Given the description of an element on the screen output the (x, y) to click on. 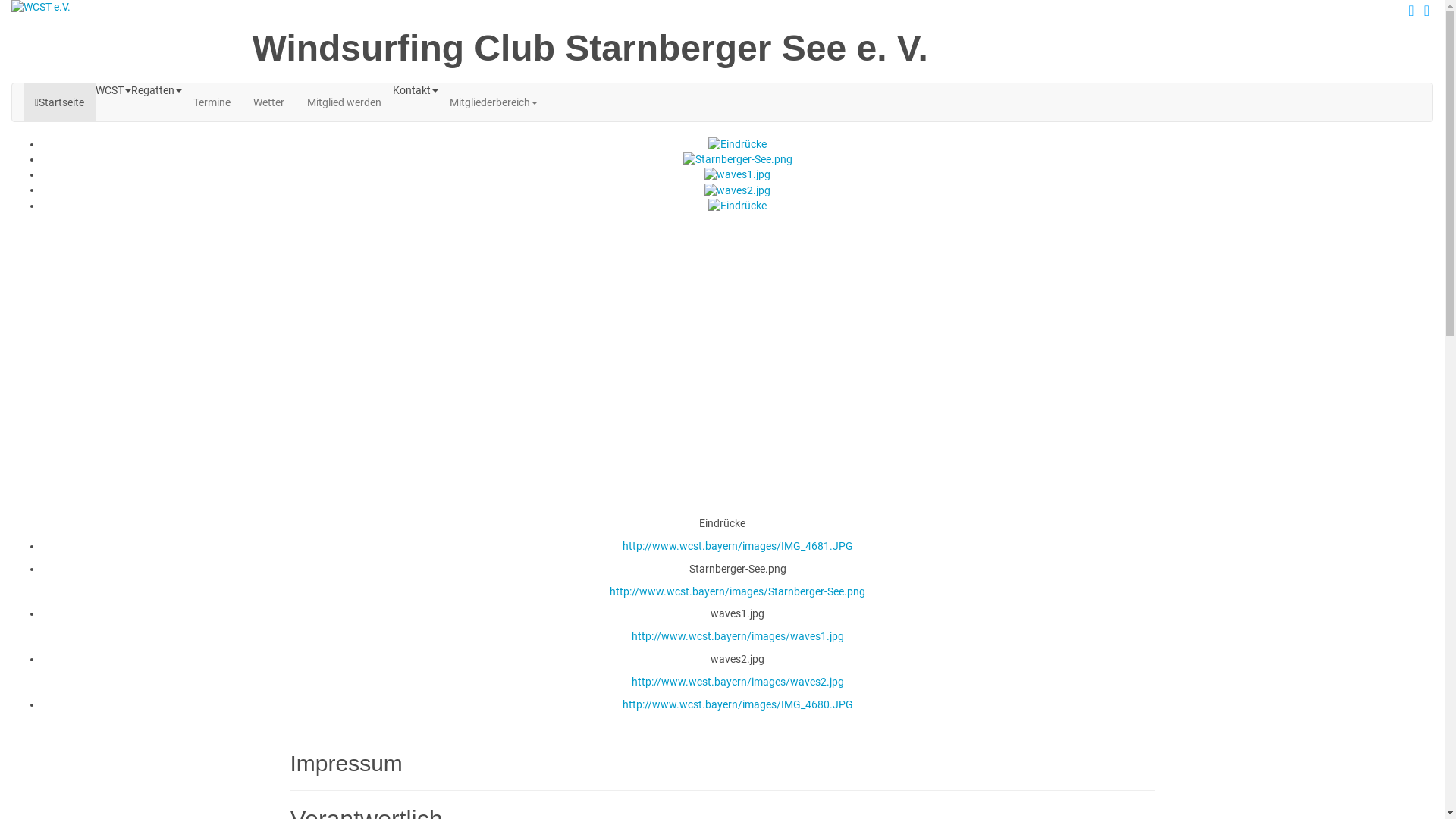
http://www.wcst.bayern/images/waves2.jpg Element type: text (736, 681)
http://www.wcst.bayern/images/IMG_4680.JPG Element type: text (736, 704)
WCST e.V. Element type: hover (120, 7)
http://www.wcst.bayern/images/Starnberger-See.png Element type: text (737, 591)
Startseite Element type: text (59, 102)
http://www.wcst.bayern/images/IMG_4681.JPG Element type: text (736, 545)
Wetter Element type: text (268, 102)
Termine Element type: text (211, 102)
Mitgliederbereich Element type: text (493, 102)
Mitglied werden Element type: text (343, 102)
http://www.wcst.bayern/images/waves1.jpg Element type: text (736, 636)
